Given the description of an element on the screen output the (x, y) to click on. 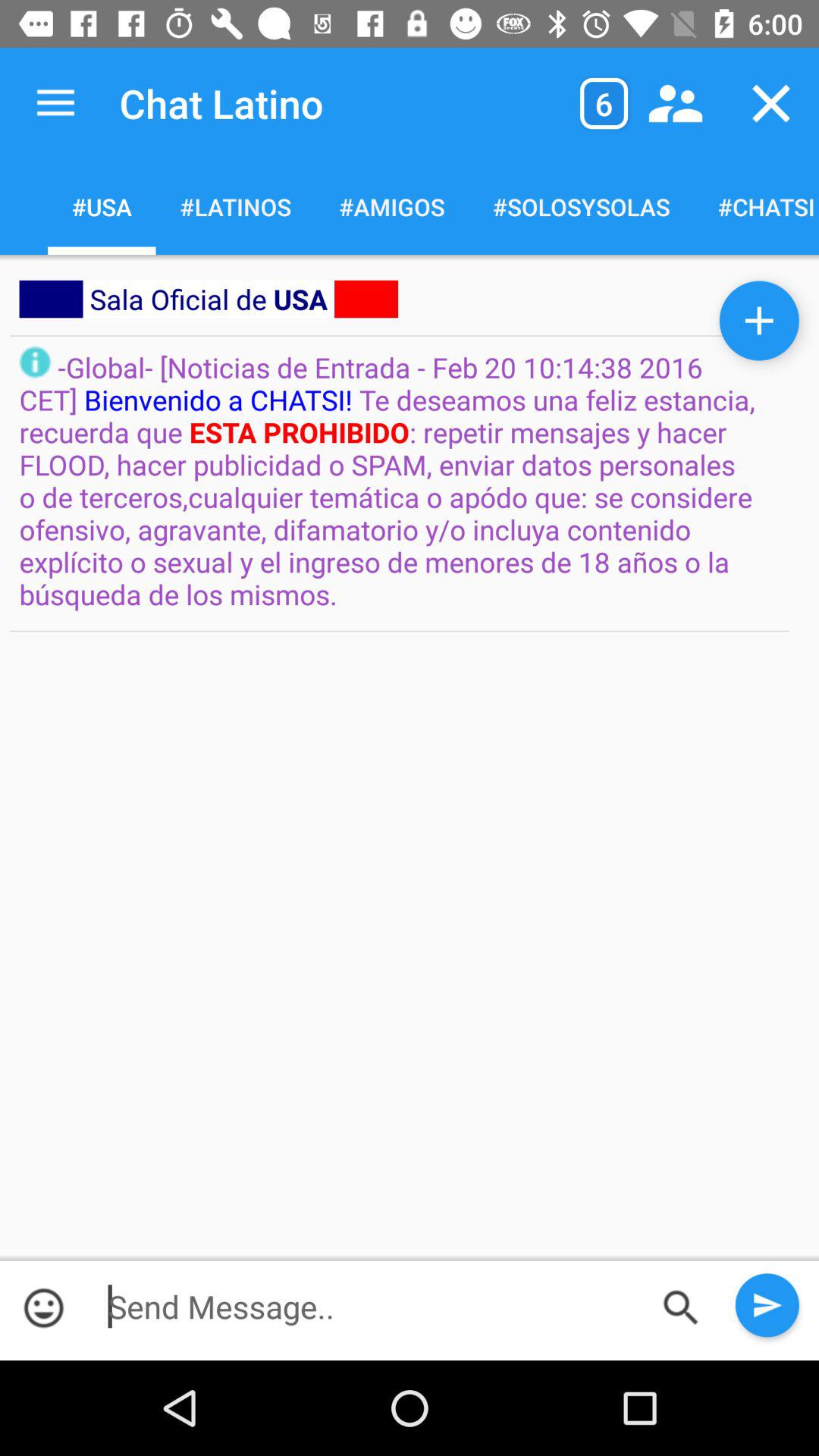
press icon above the #chatsi item (771, 103)
